Given the description of an element on the screen output the (x, y) to click on. 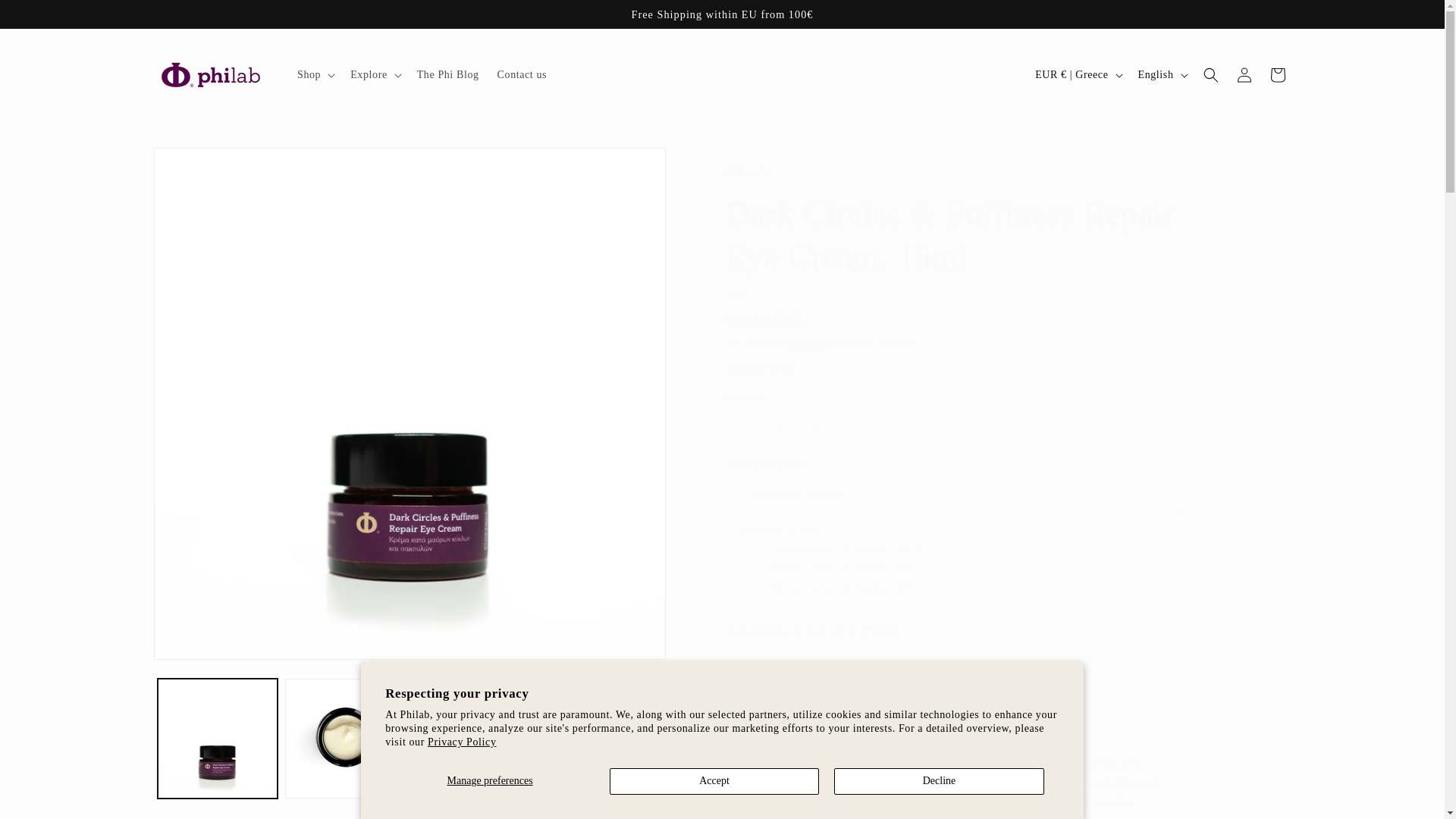
1 (780, 426)
on (762, 567)
Decline (938, 781)
on (746, 493)
Accept (714, 781)
Privacy Policy (462, 741)
Manage preferences (489, 781)
on (762, 586)
Skip to content (45, 17)
